Given the description of an element on the screen output the (x, y) to click on. 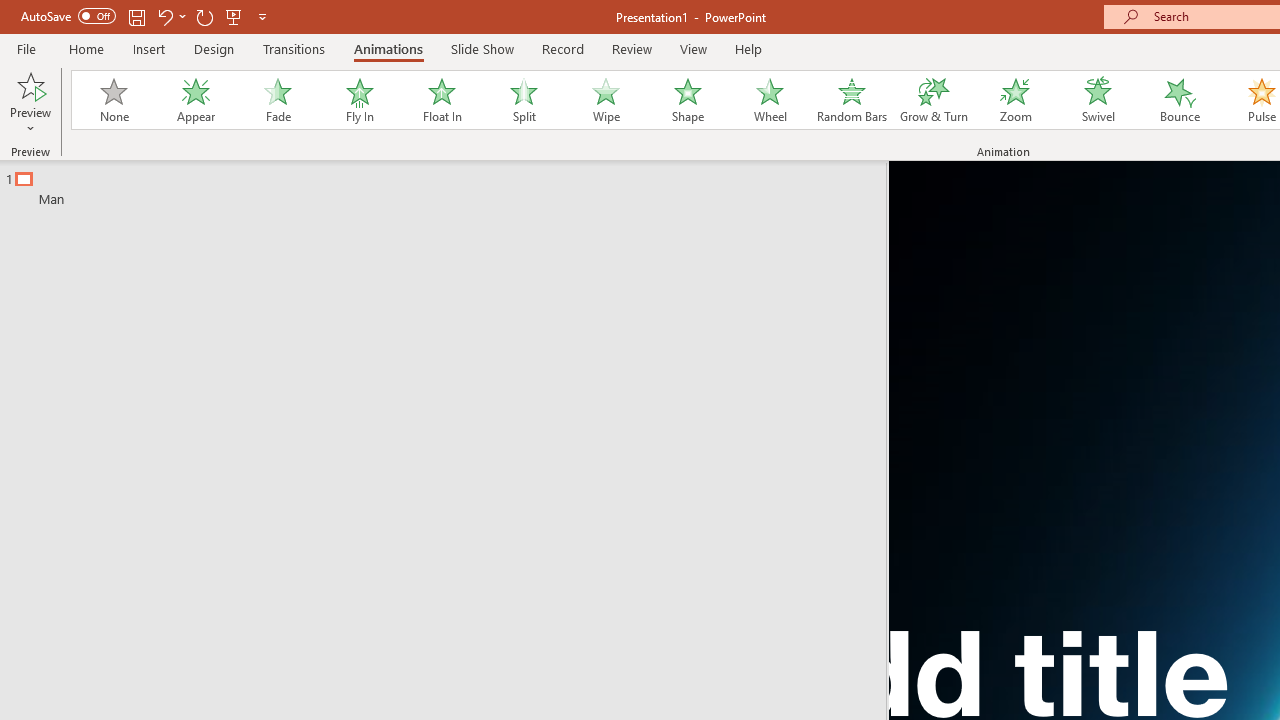
Split (523, 100)
Grow & Turn (934, 100)
Swivel (1098, 100)
Appear (195, 100)
Random Bars (852, 100)
Outline (452, 184)
Shape (687, 100)
